Given the description of an element on the screen output the (x, y) to click on. 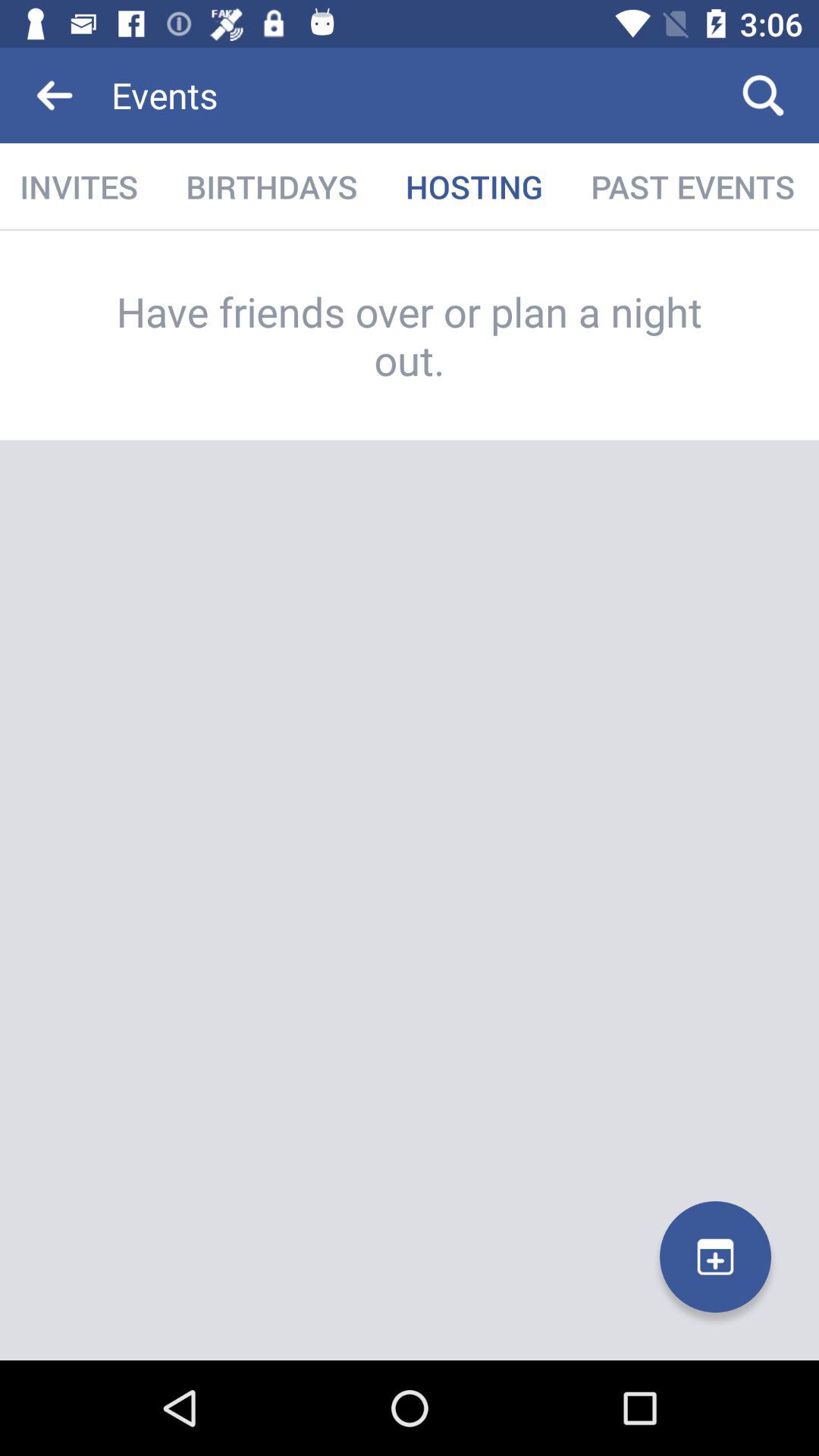
scroll until the invites (81, 186)
